Given the description of an element on the screen output the (x, y) to click on. 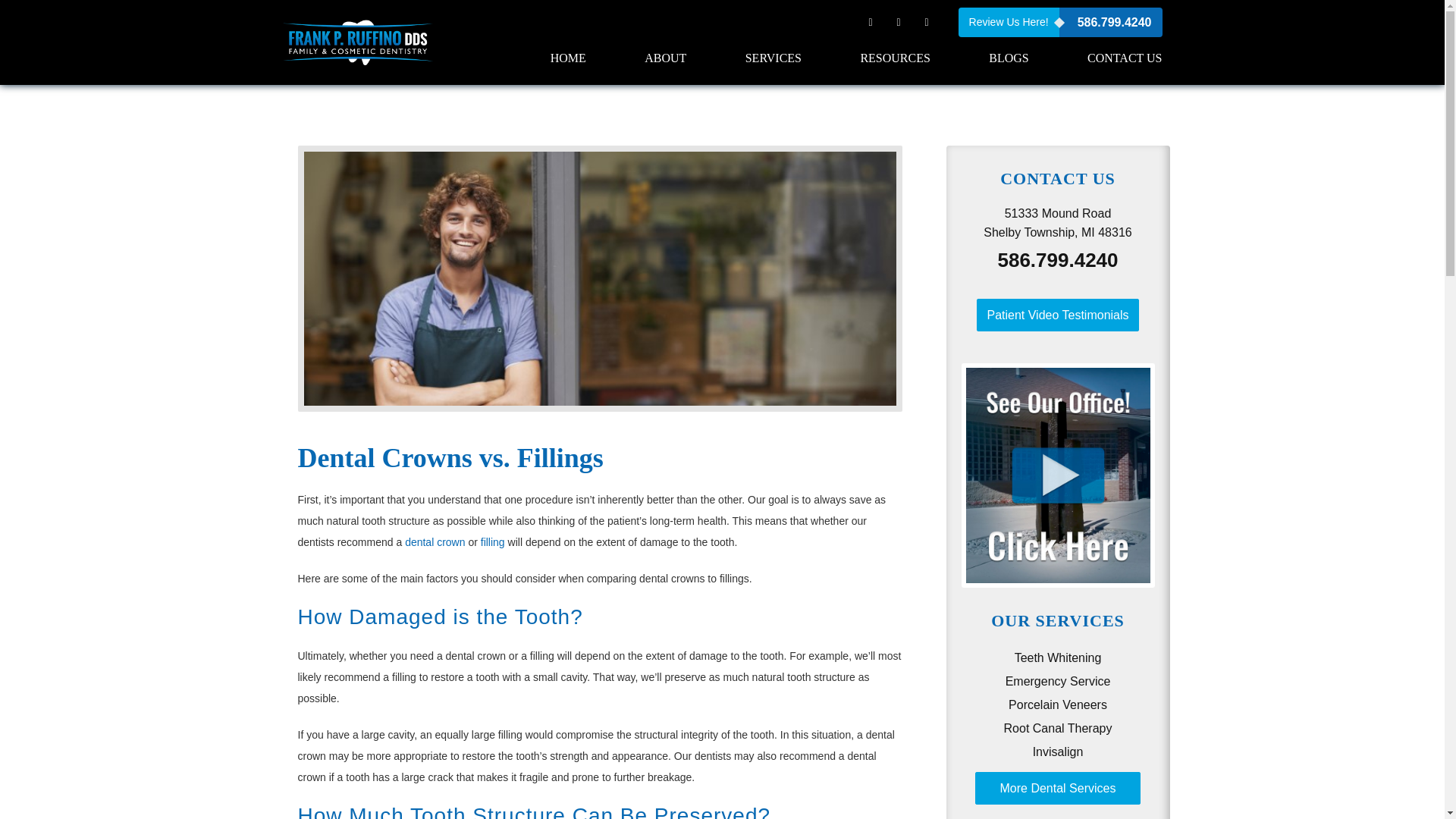
586.799.4240 (1110, 21)
SERVICES (773, 62)
Review Us Here! (1008, 21)
ABOUT (665, 62)
HOME (568, 58)
